Given the description of an element on the screen output the (x, y) to click on. 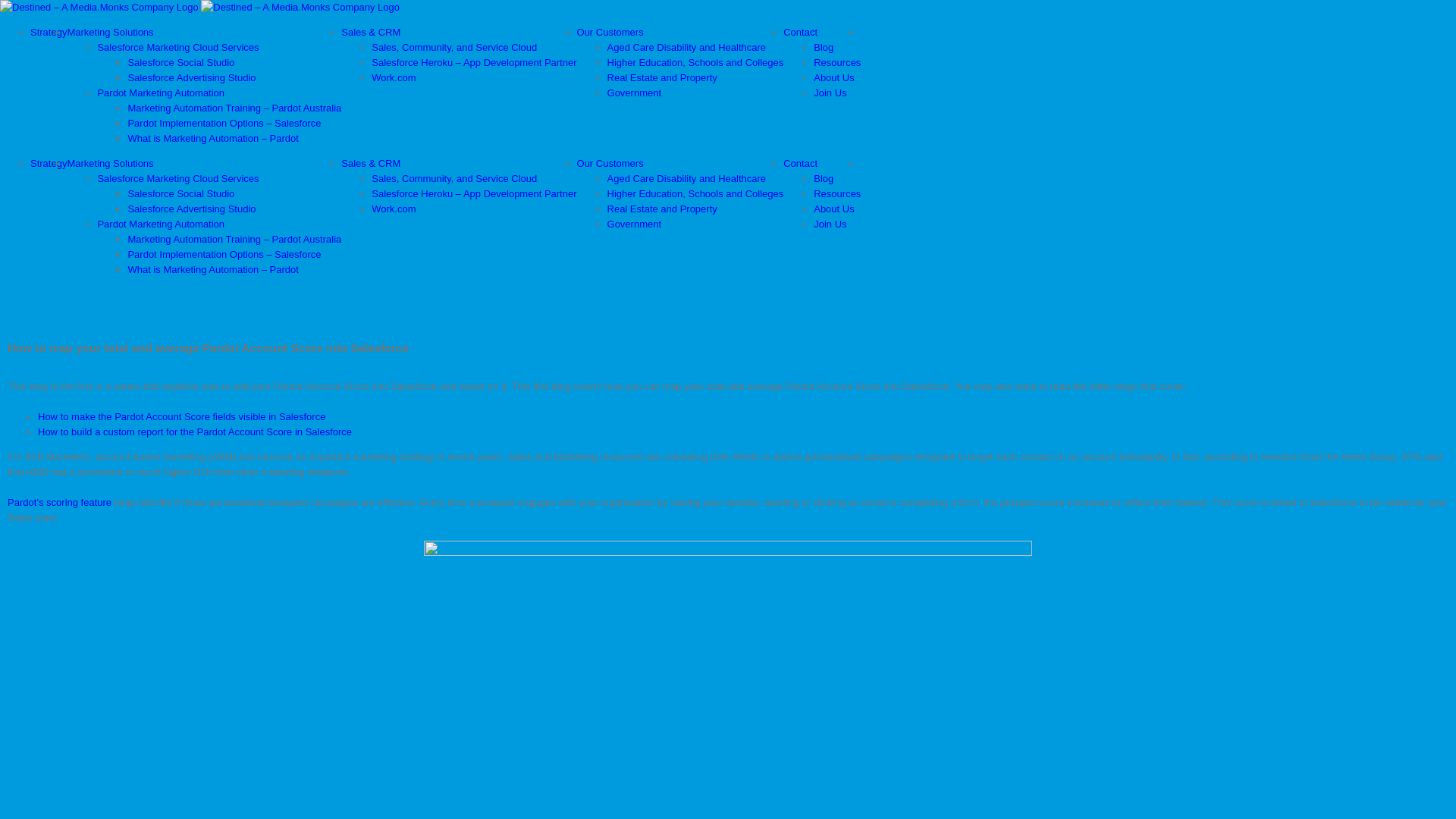
Strategy Element type: text (48, 163)
Higher Education, Schools and Colleges Element type: text (695, 193)
Our Customers Element type: text (610, 163)
Aged Care Disability and Healthcare Element type: text (686, 47)
Blog Element type: text (823, 47)
Resources Element type: text (836, 193)
Work.com Element type: text (393, 77)
Sales, Community, and Service Cloud Element type: text (453, 178)
Aged Care Disability and Healthcare Element type: text (686, 178)
Sales, Community, and Service Cloud Element type: text (453, 47)
Pardot Marketing Automation Element type: text (160, 223)
About Us Element type: text (833, 77)
Salesforce Social Studio Element type: text (180, 193)
Salesforce Advertising Studio Element type: text (191, 77)
Marketing Solutions Element type: text (109, 31)
Government Element type: text (634, 223)
Government Element type: text (634, 92)
Salesforce Advertising Studio Element type: text (191, 208)
Salesforce Marketing Cloud Services Element type: text (177, 47)
Join Us Element type: text (829, 223)
Our Customers Element type: text (610, 31)
Salesforce Social Studio Element type: text (180, 62)
Contact Element type: text (800, 31)
Sales & CRM Element type: text (370, 31)
Resources Element type: text (836, 62)
Sales & CRM Element type: text (370, 163)
Real Estate and Property Element type: text (662, 77)
Salesforce Marketing Cloud Services Element type: text (177, 178)
Marketing Solutions Element type: text (109, 163)
Pardot Marketing Automation Element type: text (160, 92)
Strategy Element type: text (48, 31)
Higher Education, Schools and Colleges Element type: text (695, 62)
Blog Element type: text (823, 178)
Work.com Element type: text (393, 208)
Real Estate and Property Element type: text (662, 208)
Join Us Element type: text (829, 92)
Contact Element type: text (800, 163)
About Us Element type: text (833, 208)
